Given the description of an element on the screen output the (x, y) to click on. 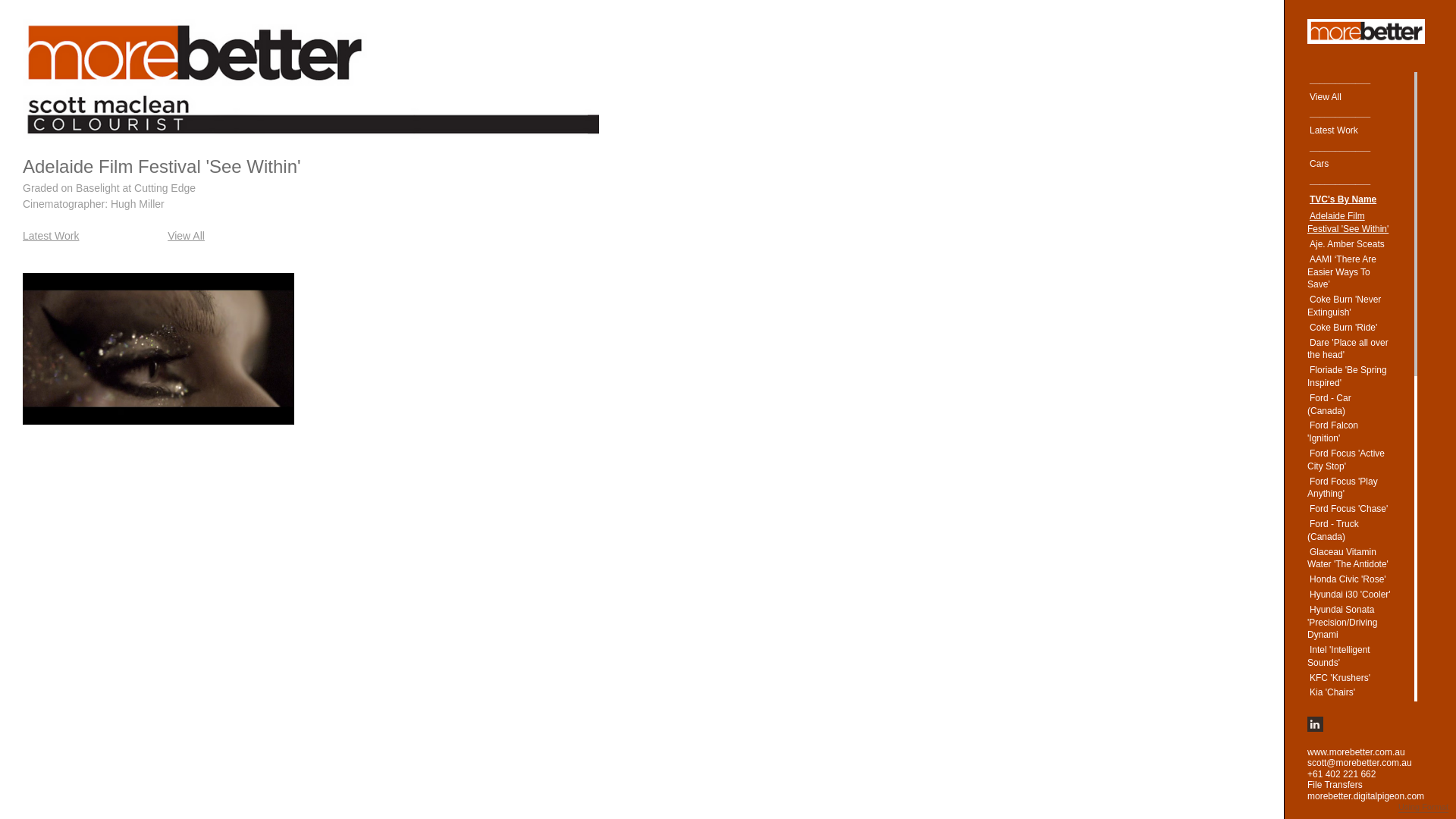
http://linkedin.com/pub/scott-maclean/34/32b/238 Element type: text (1314, 723)
Intel 'Intelligent Sounds' Element type: text (1338, 655)
Adelaide Film Festival 'See Within' Element type: text (1348, 222)
Floriade 'Be Spring Inspired' Element type: text (1346, 376)
Dare 'Place all over the head' Element type: text (1347, 348)
View All Element type: text (1325, 97)
Cars Element type: text (1318, 163)
Using Format Element type: text (1423, 807)
Coke Burn 'Never Extinguish' Element type: text (1343, 305)
Ford Falcon 'Ignition' Element type: text (1332, 431)
Ford Focus 'Play Anything' Element type: text (1342, 487)
View All Element type: text (185, 235)
Hyundai i30 'Cooler' Element type: text (1350, 594)
Aje. Amber Sceats Element type: text (1346, 244)
Ford - Truck (Canada) Element type: text (1332, 529)
Kia 'Chairs' Element type: text (1332, 692)
Ford Focus 'Active City Stop' Element type: text (1345, 459)
Glaceau Vitamin Water 'The Antidote' Element type: text (1348, 558)
Latest Work Element type: text (1333, 130)
KFC 'Krushers' Element type: text (1339, 677)
Coke Burn 'Ride' Element type: text (1343, 327)
Latest Work Element type: text (50, 235)
Hyundai Sonata 'Precision/Driving Dynami Element type: text (1342, 622)
Ford - Car (Canada) Element type: text (1329, 404)
Ford Focus 'Chase' Element type: text (1348, 508)
Honda Civic 'Rose' Element type: text (1347, 579)
